Given the description of an element on the screen output the (x, y) to click on. 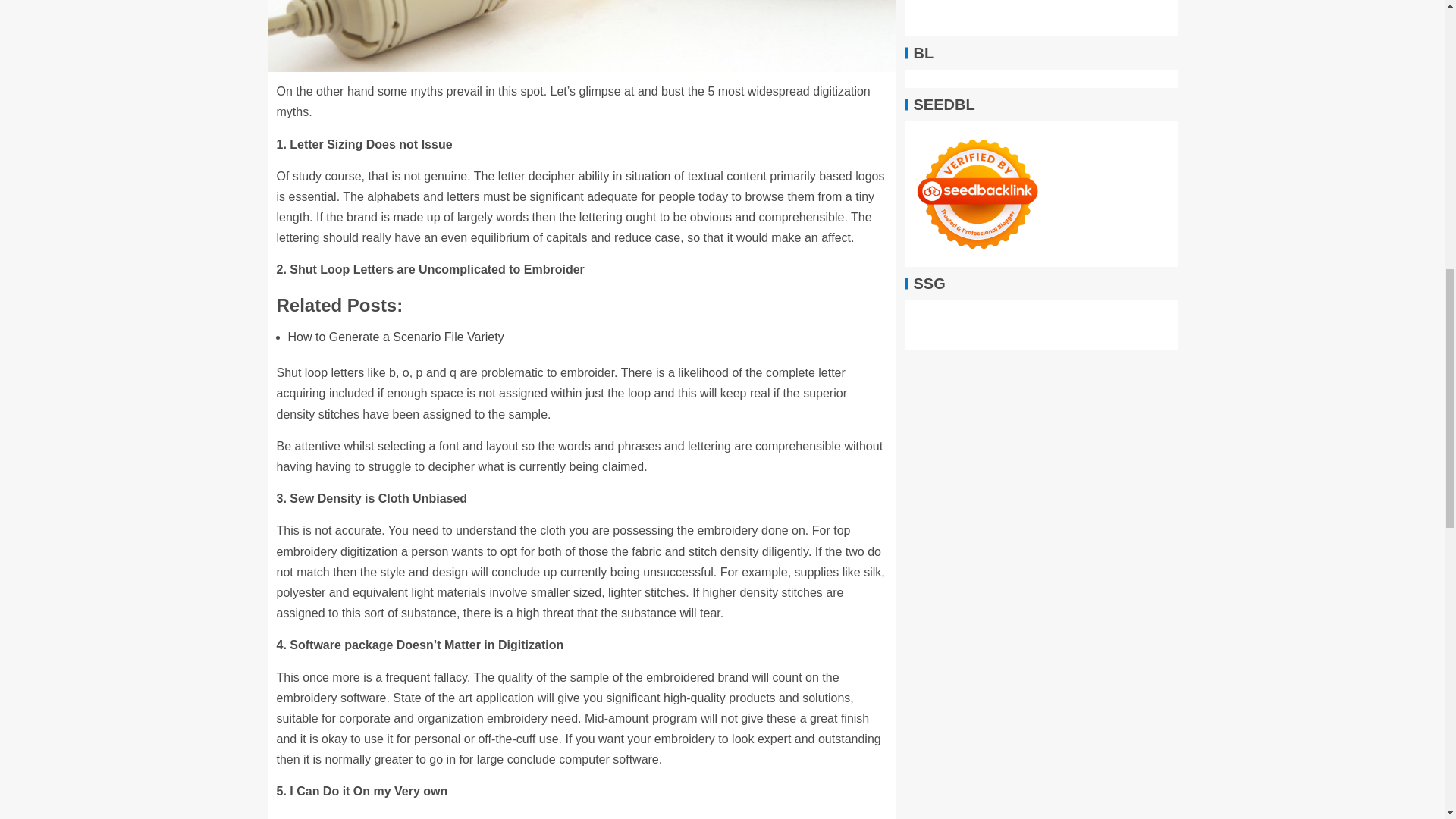
How to Generate a Scenario File Variety (395, 336)
